Given the description of an element on the screen output the (x, y) to click on. 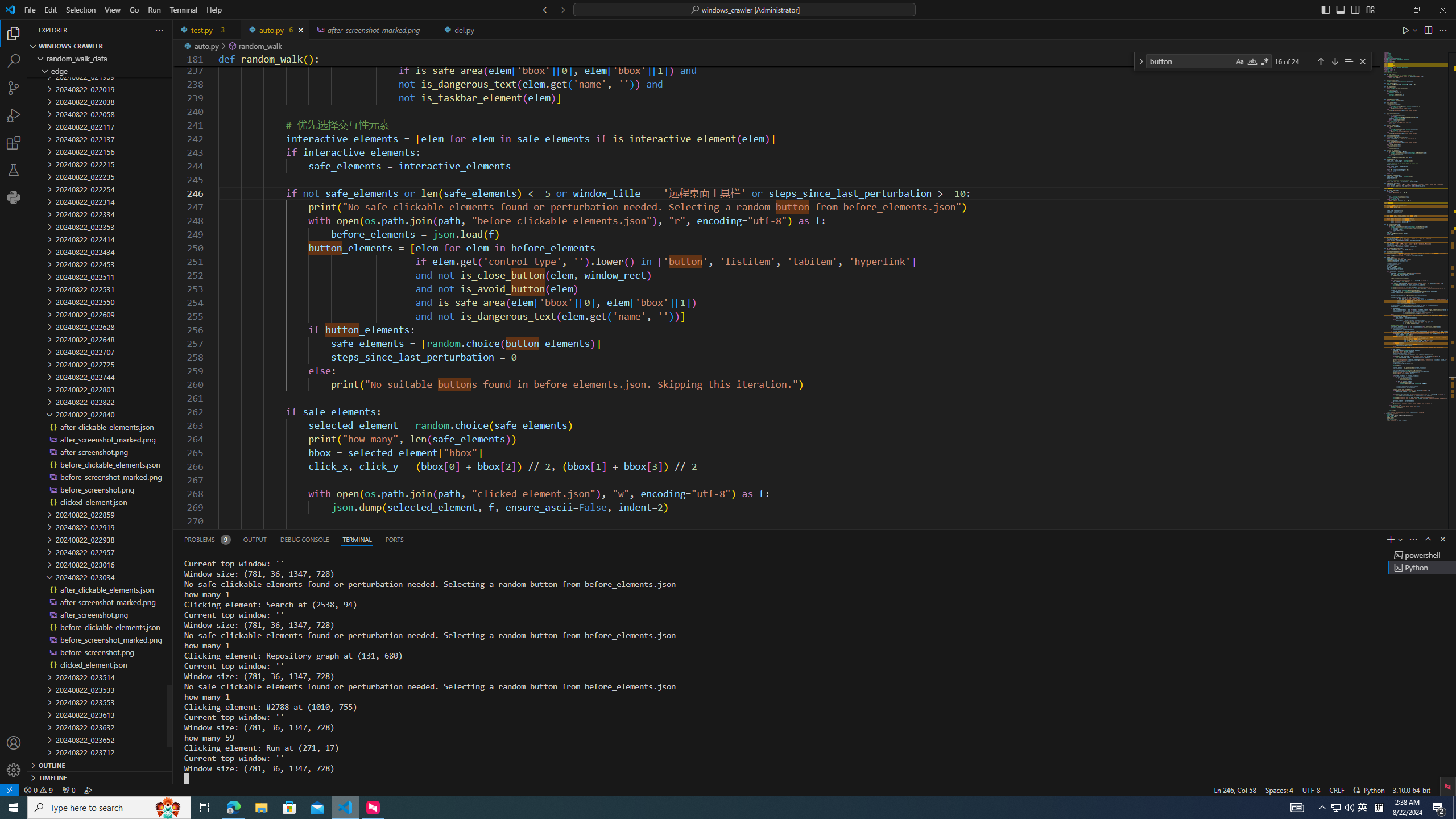
del.py (470, 29)
Terminal (183, 9)
Run or Debug... (1414, 29)
Output (Ctrl+Shift+U) (254, 539)
after_screenshot_marked.png, preview (372, 29)
Go Forward (Alt+RightArrow) (560, 9)
remote (9, 789)
Use Regular Expression (Alt+R) (1265, 61)
Ln 246, Col 58 (1235, 789)
Debug Console (Ctrl+Shift+Y) (304, 539)
